Given the description of an element on the screen output the (x, y) to click on. 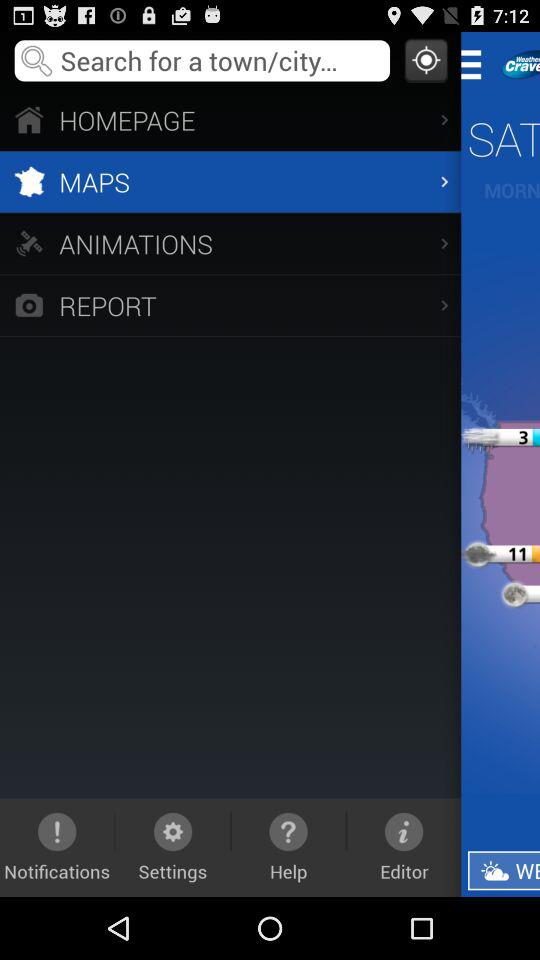
my location (426, 60)
